Given the description of an element on the screen output the (x, y) to click on. 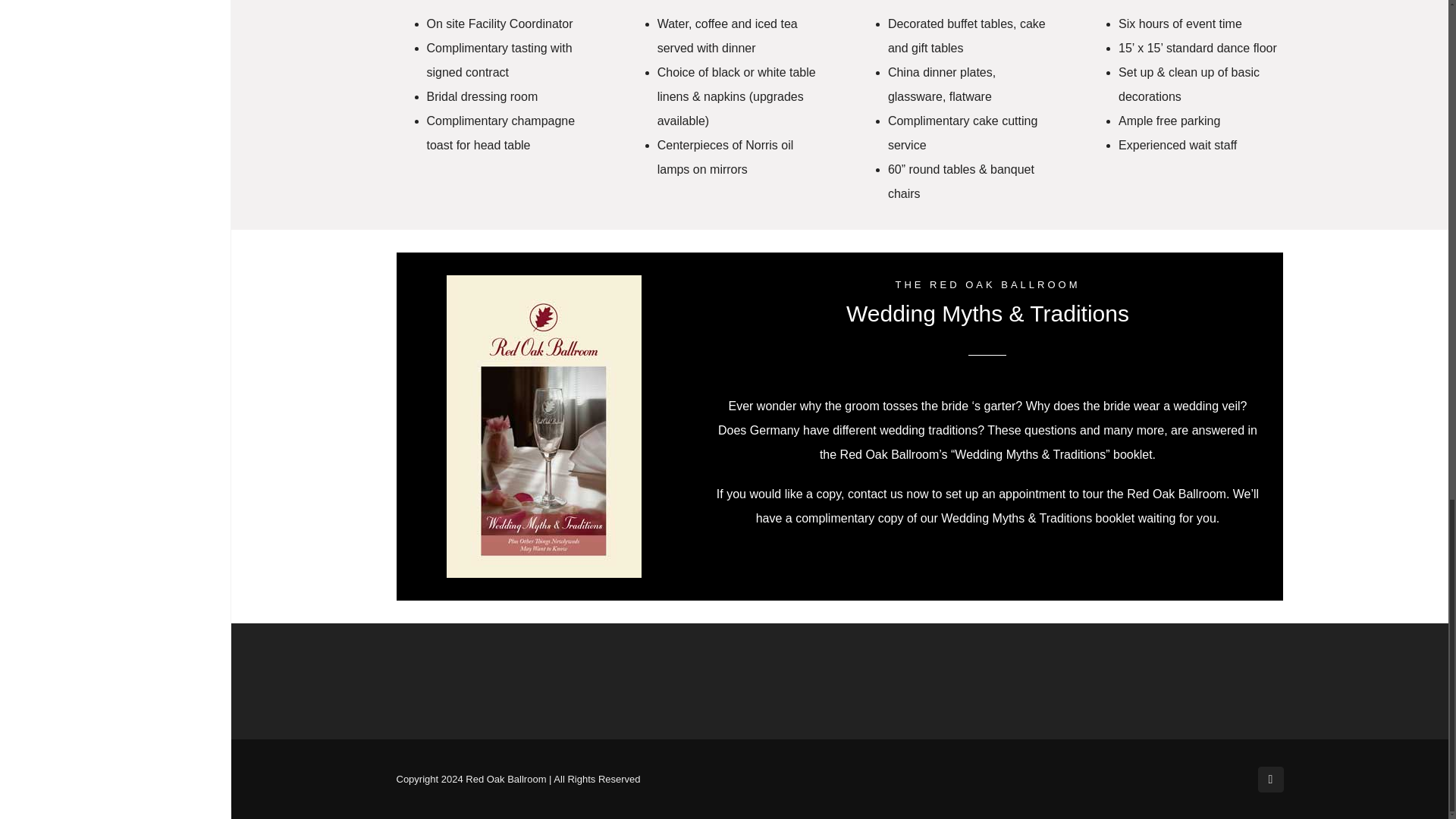
wedding myths (544, 426)
